Given the description of an element on the screen output the (x, y) to click on. 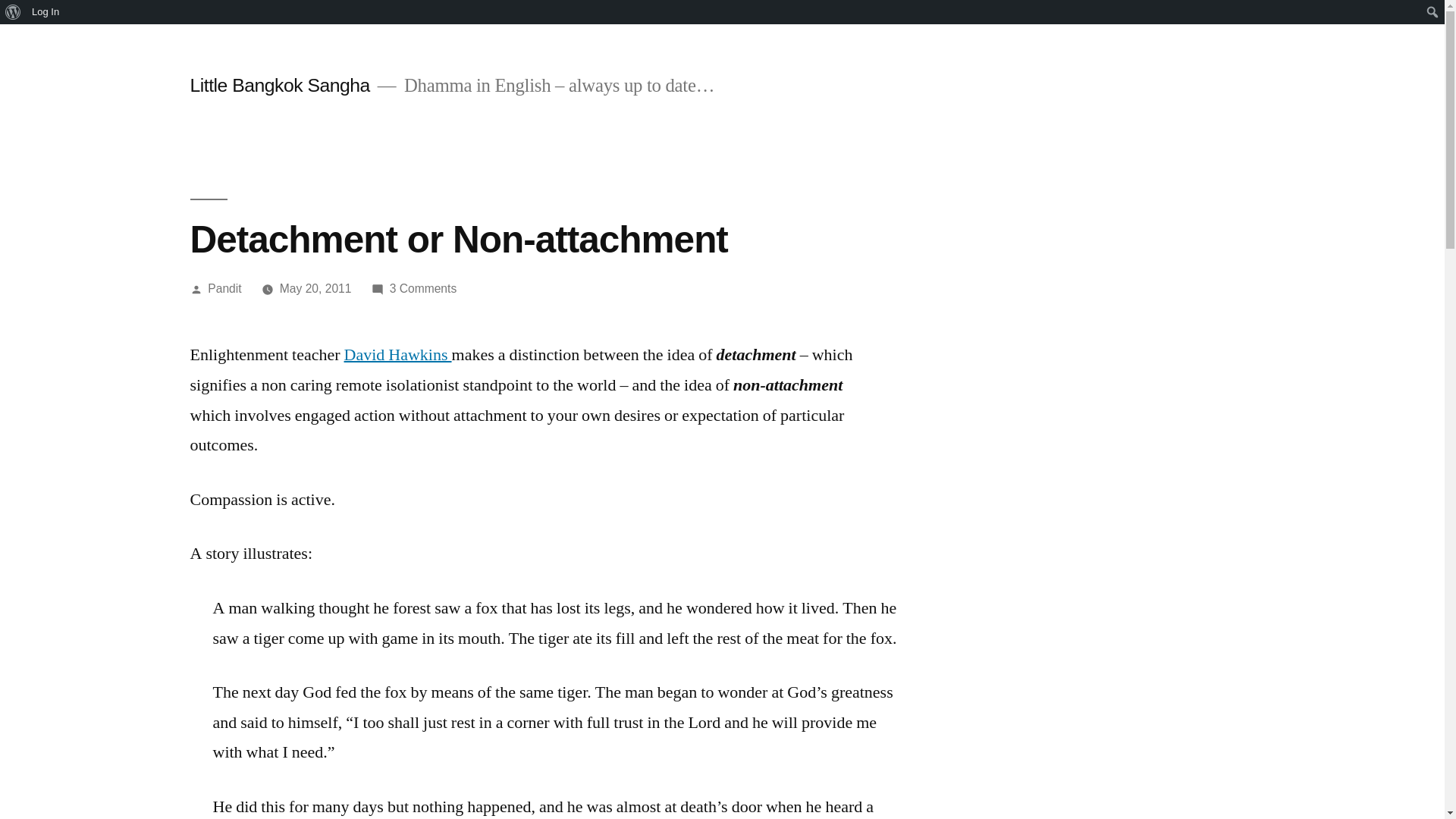
Log In (423, 287)
May 20, 2011 (45, 12)
David Hawkins (315, 287)
Pandit (397, 354)
Search (224, 287)
Little Bangkok Sangha (15, 12)
